Given the description of an element on the screen output the (x, y) to click on. 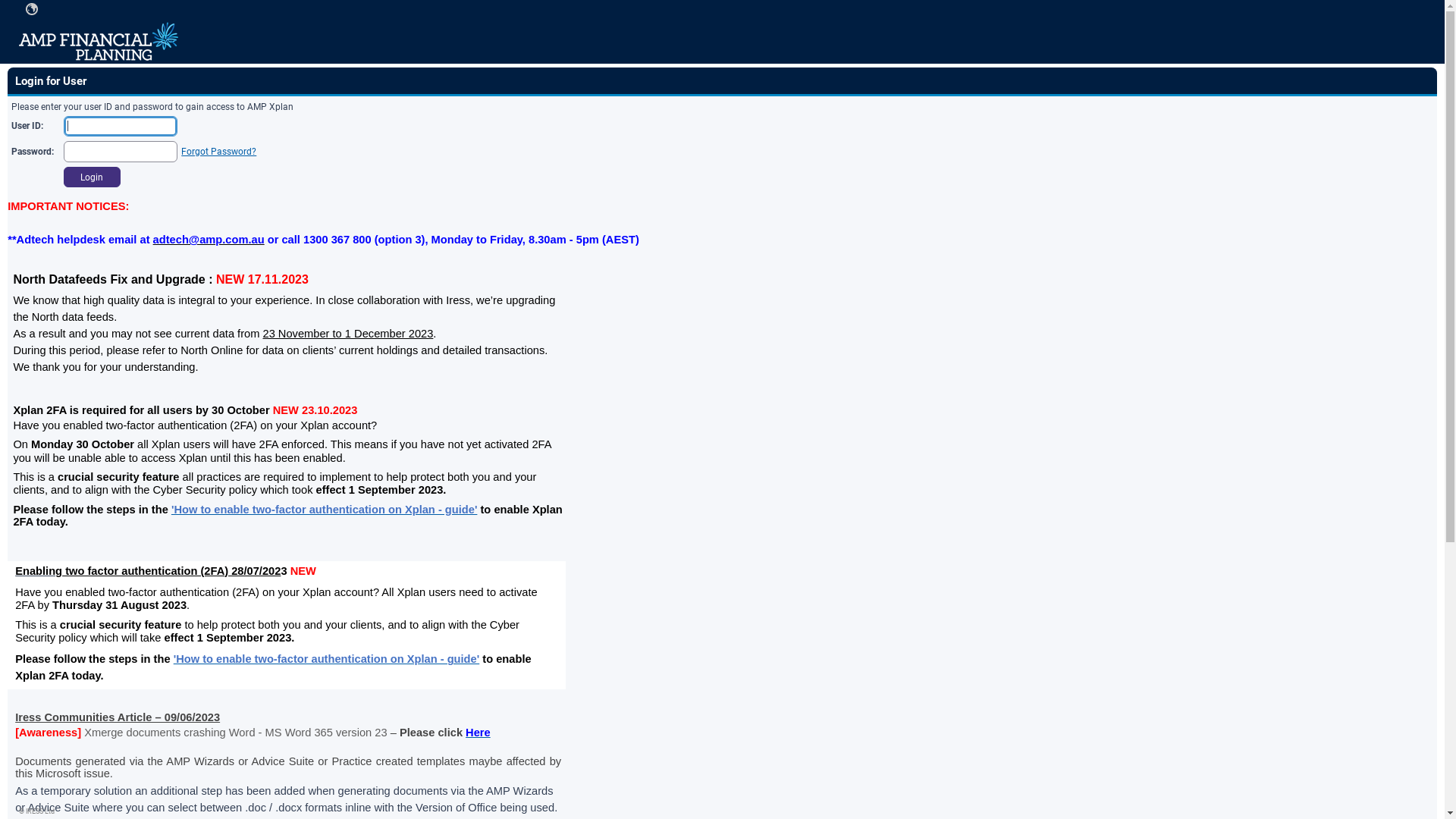
'How to enable two-factor authentication on Xplan - guide' Element type: text (326, 658)
Here Element type: text (477, 732)
Forgot Password? Element type: text (218, 151)
  Element type: text (31, 9)
adtech@amp.com.au Element type: text (208, 239)
Login Element type: text (91, 177)
'How to enable two-factor authentication on Xplan - guide' Element type: text (324, 509)
